Given the description of an element on the screen output the (x, y) to click on. 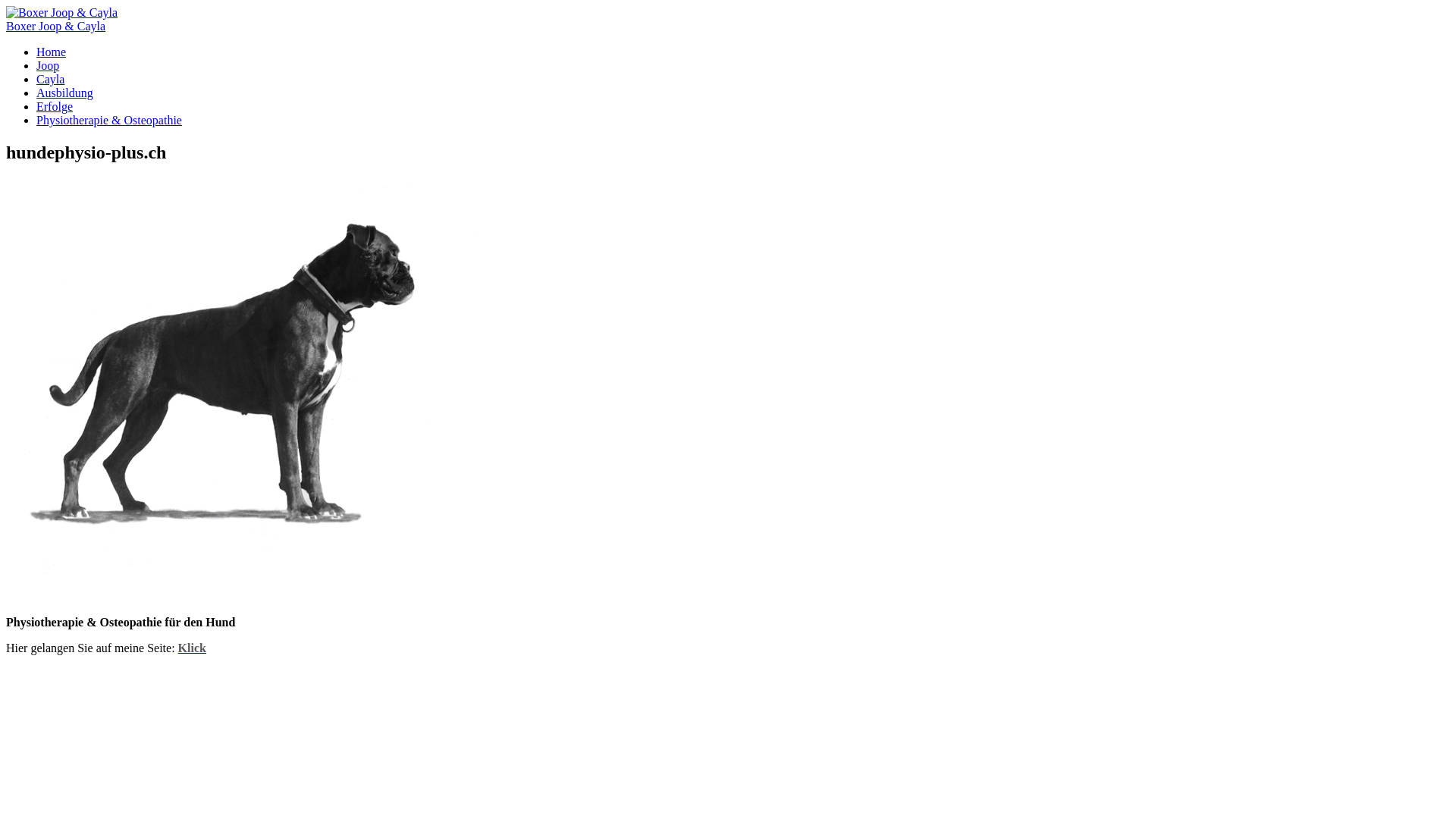
Physiotherapie & Osteopathie Element type: text (109, 119)
Boxer Joop & Cayla Element type: text (55, 25)
Joop Element type: text (47, 65)
Home Element type: text (50, 51)
Cayla Element type: text (50, 78)
Ausbildung Element type: text (64, 92)
Erfolge Element type: text (54, 106)
Klick Element type: text (192, 647)
